Given the description of an element on the screen output the (x, y) to click on. 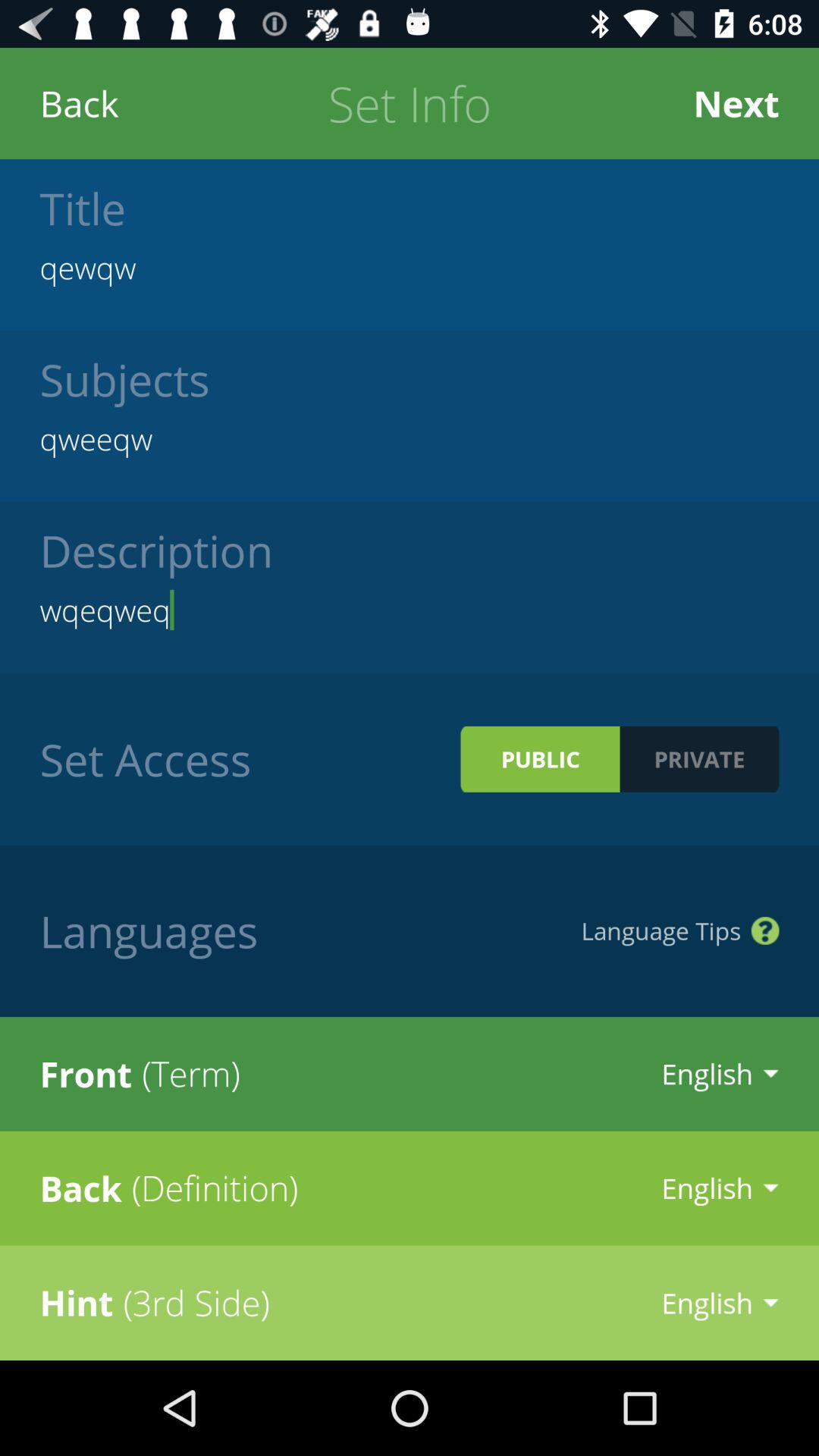
click the icon above subjects icon (409, 267)
